Given the description of an element on the screen output the (x, y) to click on. 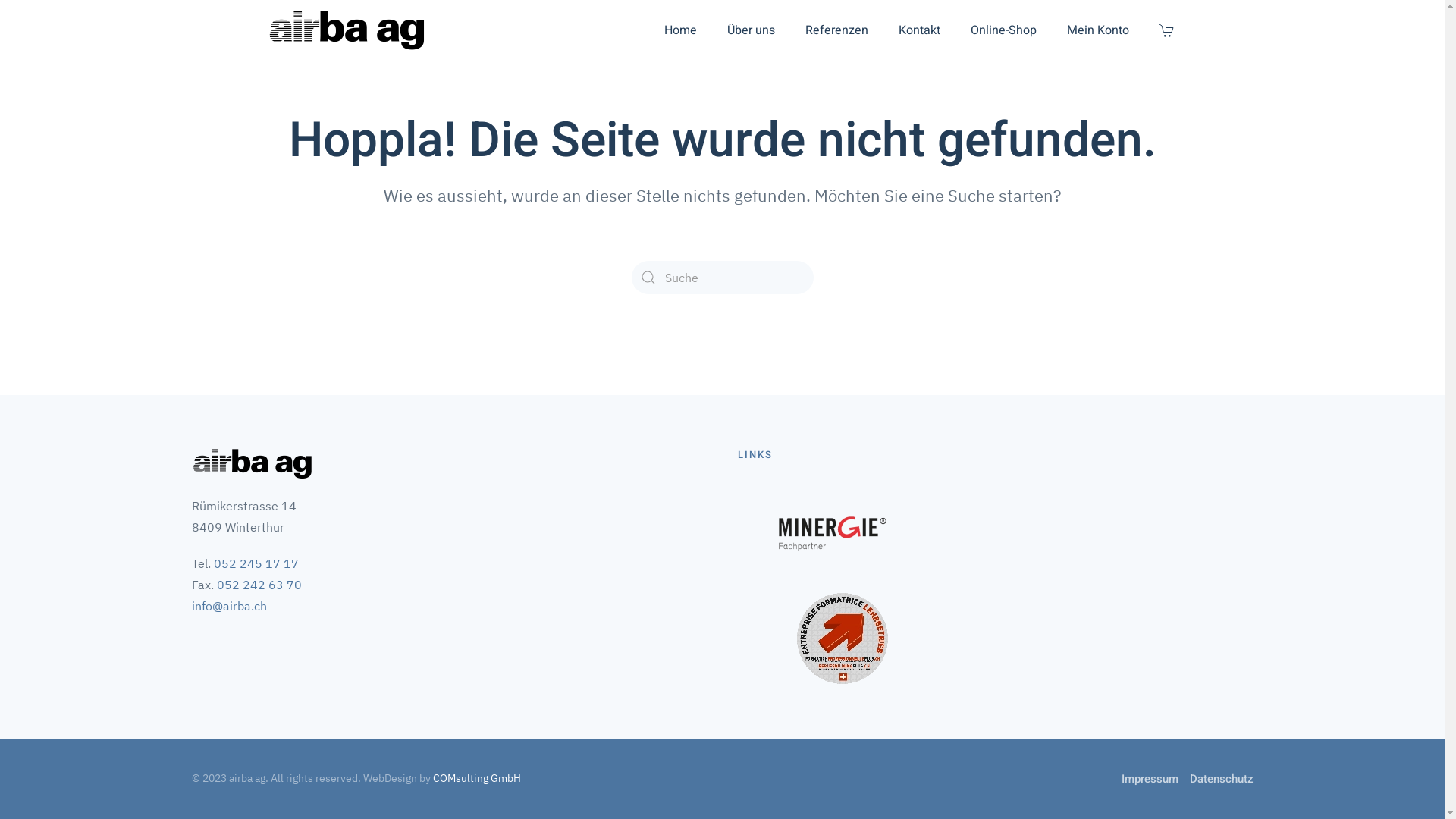
COMsulting GmbH Element type: text (476, 777)
Datenschutz Element type: text (1220, 778)
Impressum Element type: text (1148, 778)
052 242 63 70 Element type: text (258, 584)
Mein Konto Element type: text (1097, 30)
Referenzen Element type: text (836, 30)
Home Element type: text (680, 30)
info@airba.ch Element type: text (228, 605)
Kontakt Element type: text (918, 30)
052 245 17 17 Element type: text (255, 563)
Online-Shop Element type: text (1003, 30)
